Given the description of an element on the screen output the (x, y) to click on. 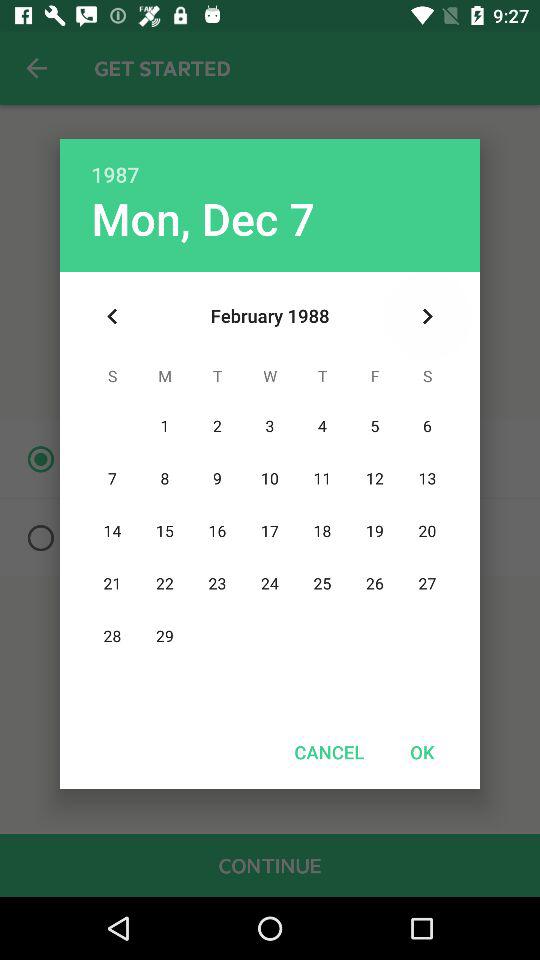
jump to the ok item (422, 751)
